Given the description of an element on the screen output the (x, y) to click on. 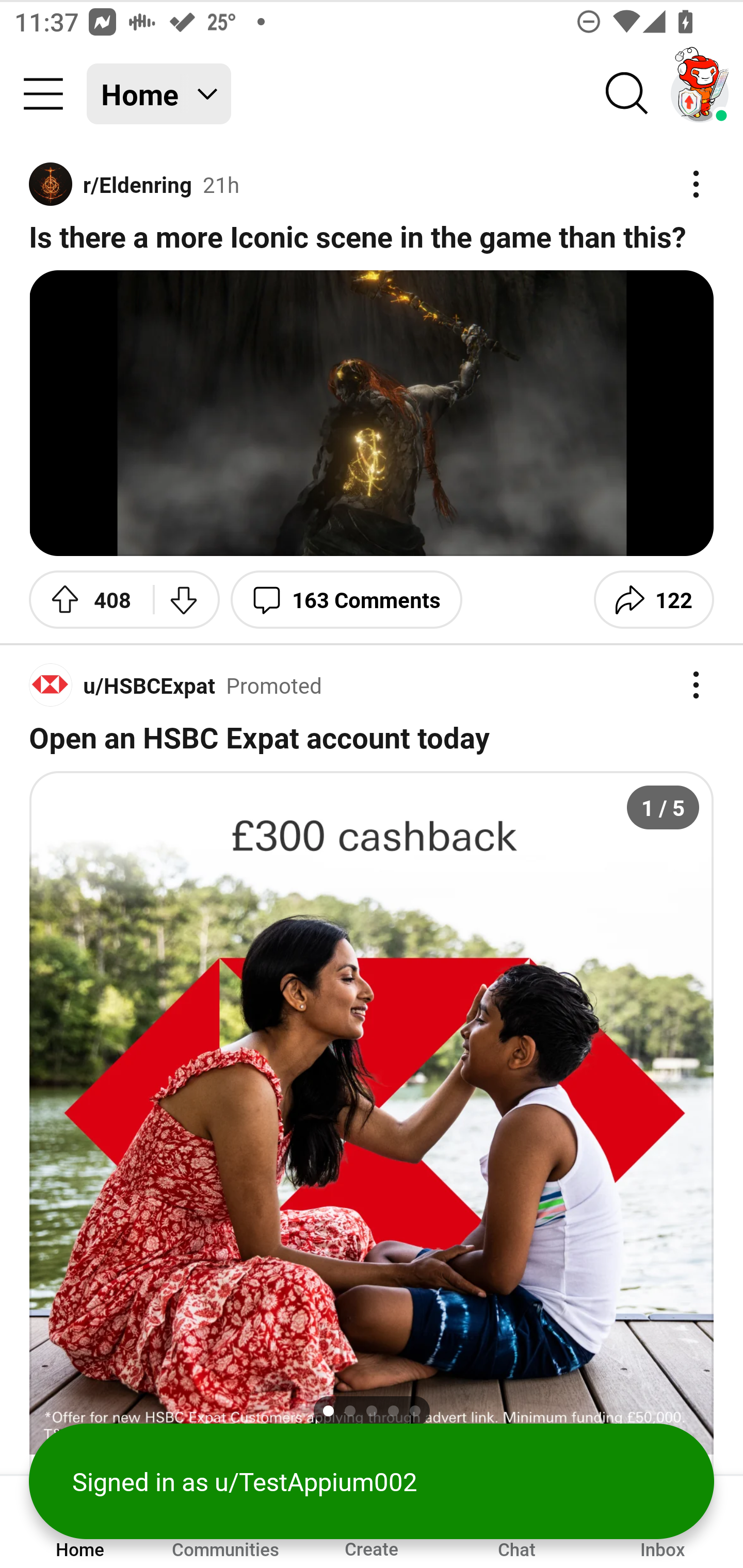
Community menu (43, 93)
Home Home feed (158, 93)
Search (626, 93)
TestAppium002 account (699, 93)
Image 1 of 5 (371, 1113)
